Given the description of an element on the screen output the (x, y) to click on. 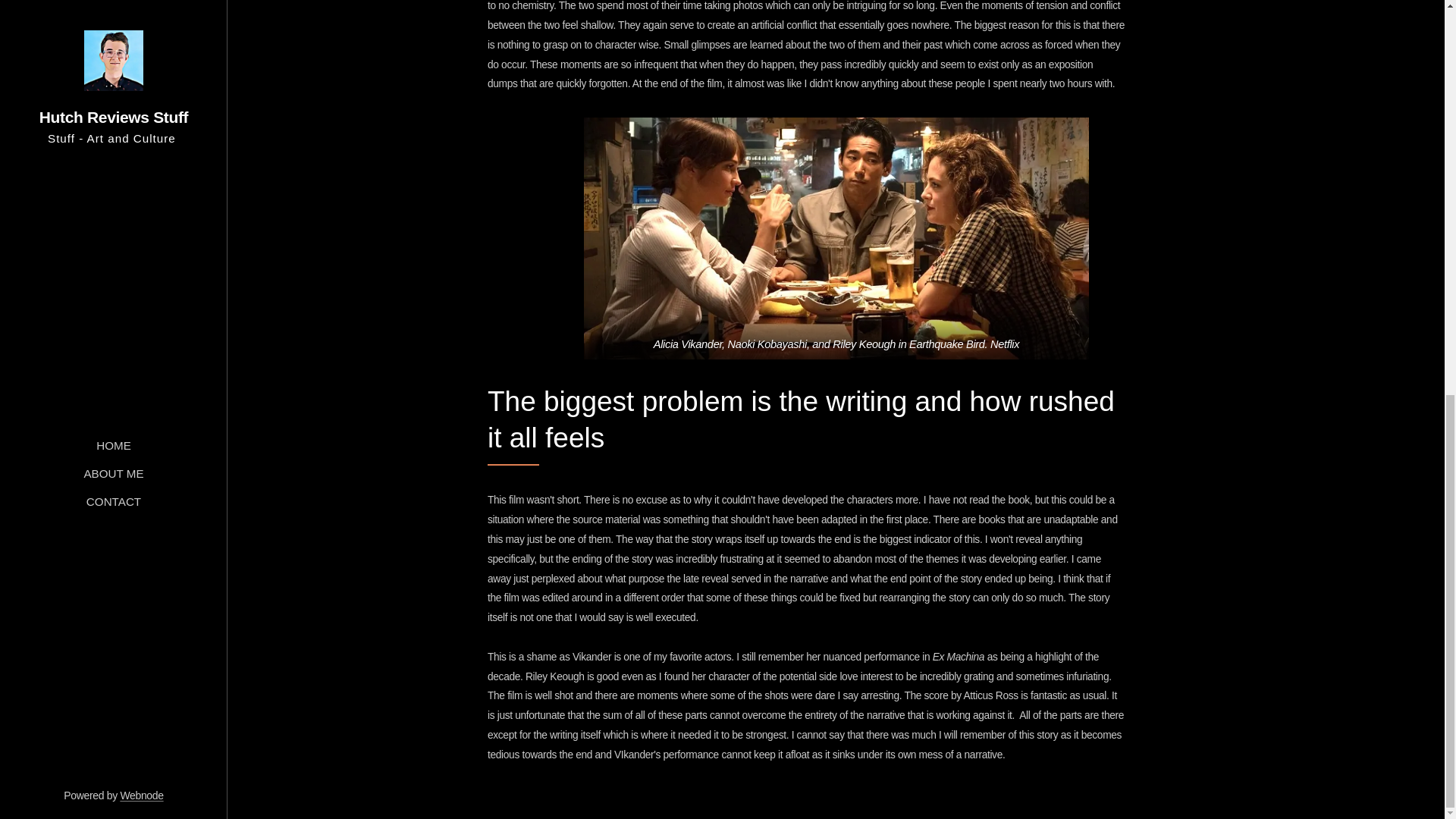
Webnode (141, 33)
